Given the description of an element on the screen output the (x, y) to click on. 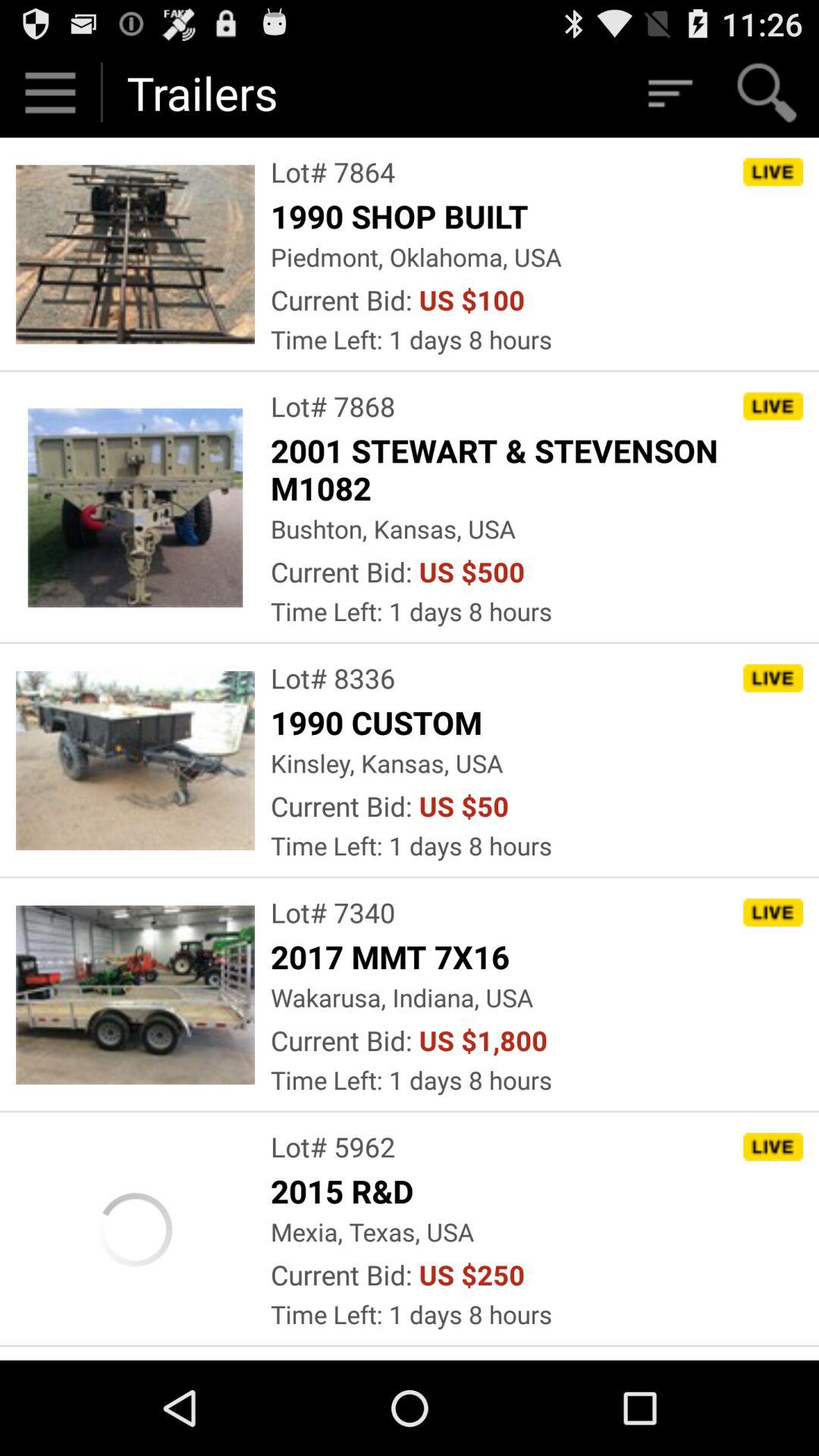
flip until the us $50 app (464, 805)
